Given the description of an element on the screen output the (x, y) to click on. 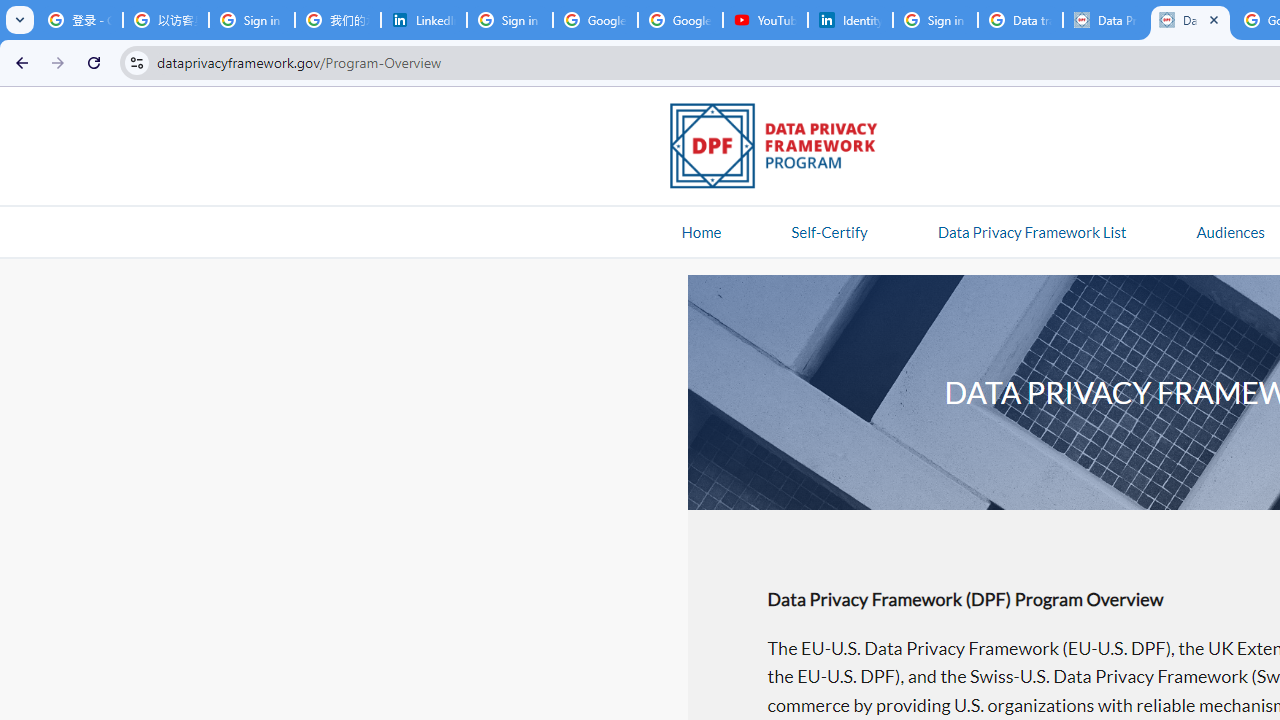
Data Privacy Framework List (1031, 231)
Sign in - Google Accounts (509, 20)
Data Privacy Framework (1105, 20)
Sign in - Google Accounts (251, 20)
LinkedIn Privacy Policy (424, 20)
Self-Certify (829, 231)
